Given the description of an element on the screen output the (x, y) to click on. 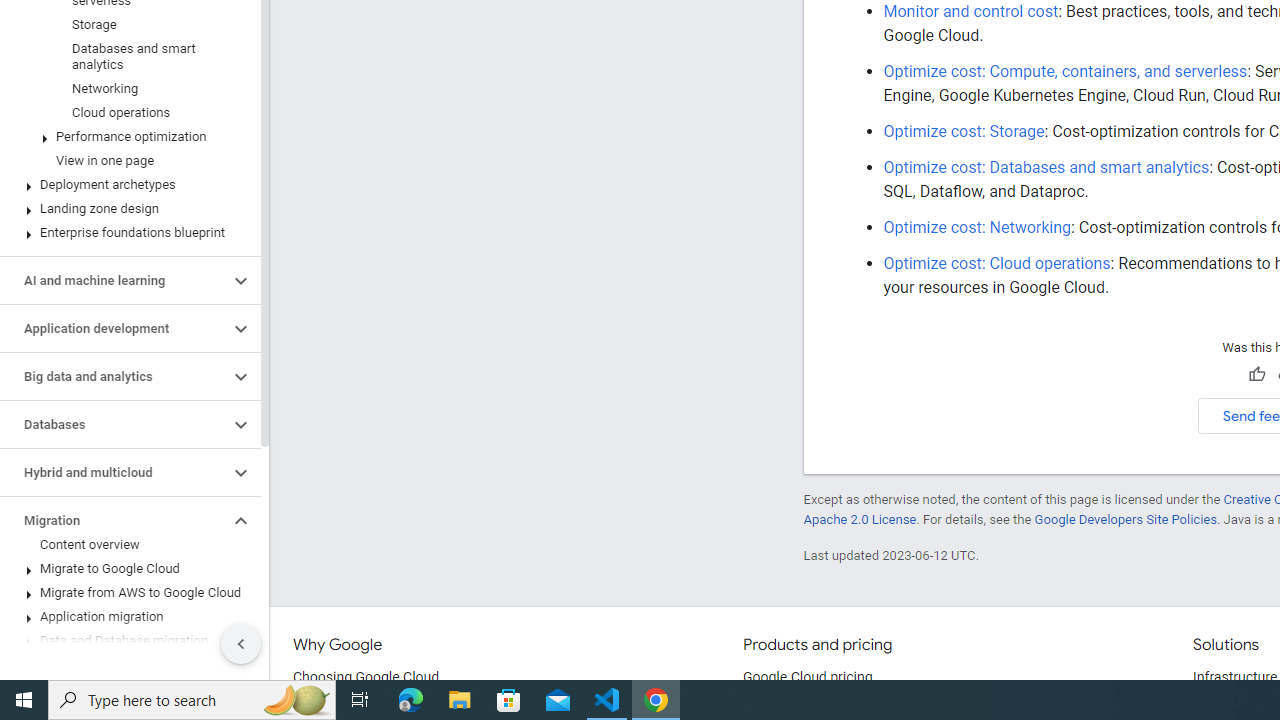
Choosing Google Cloud (366, 677)
Apache 2.0 License (859, 519)
Enterprise foundations blueprint (126, 232)
Deployment archetypes (126, 184)
Monitor and control cost (970, 11)
AI and machine learning (114, 281)
Optimize cost: Networking (977, 227)
Content overview (126, 544)
View in one page (126, 160)
Google Cloud pricing (807, 677)
Networking (126, 88)
Storage (126, 24)
Databases (114, 425)
Hide side navigation (241, 643)
Helpful (1256, 375)
